Given the description of an element on the screen output the (x, y) to click on. 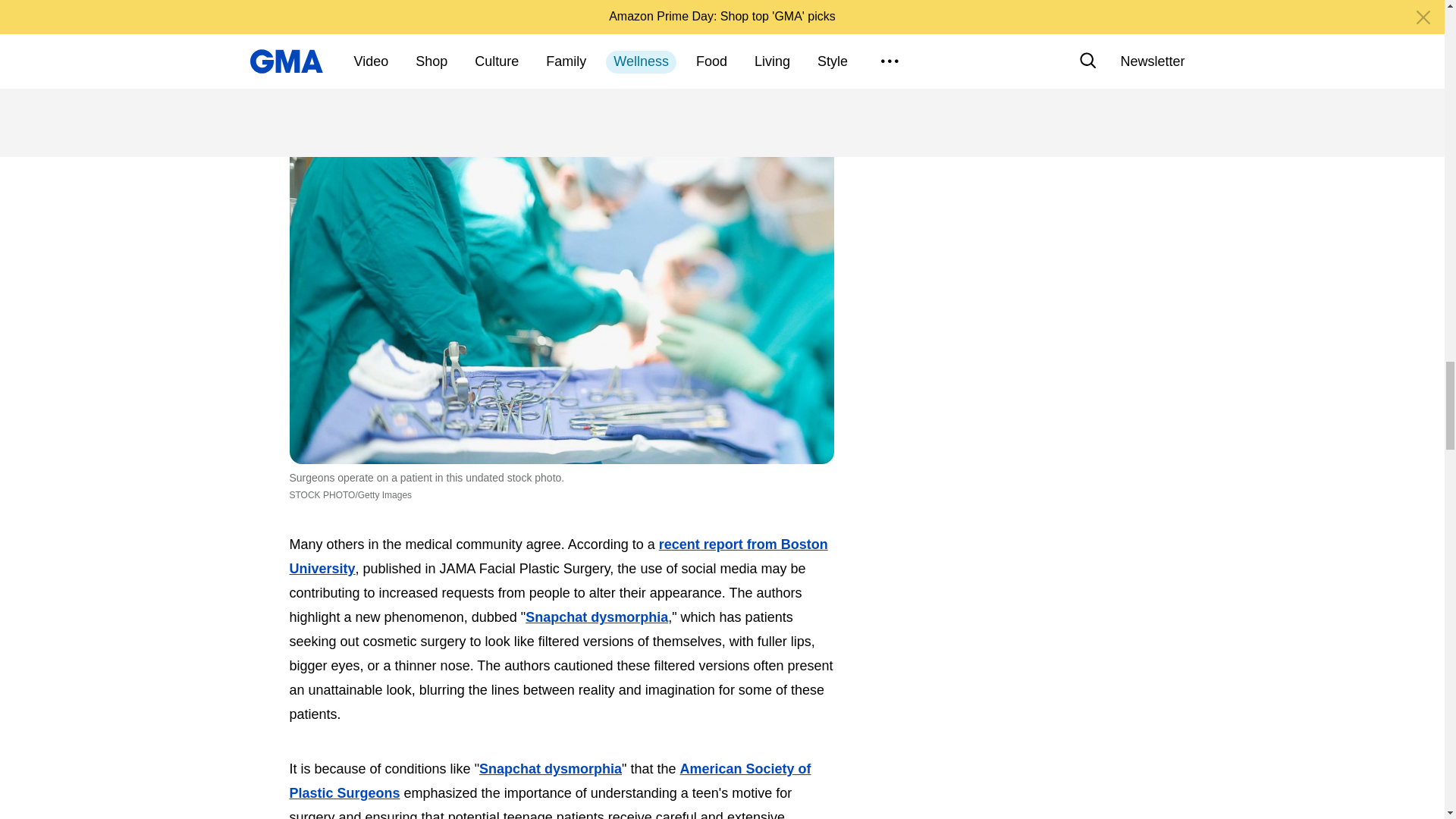
recent report from Boston University (558, 556)
Snapchat dysmorphia (596, 616)
